Given the description of an element on the screen output the (x, y) to click on. 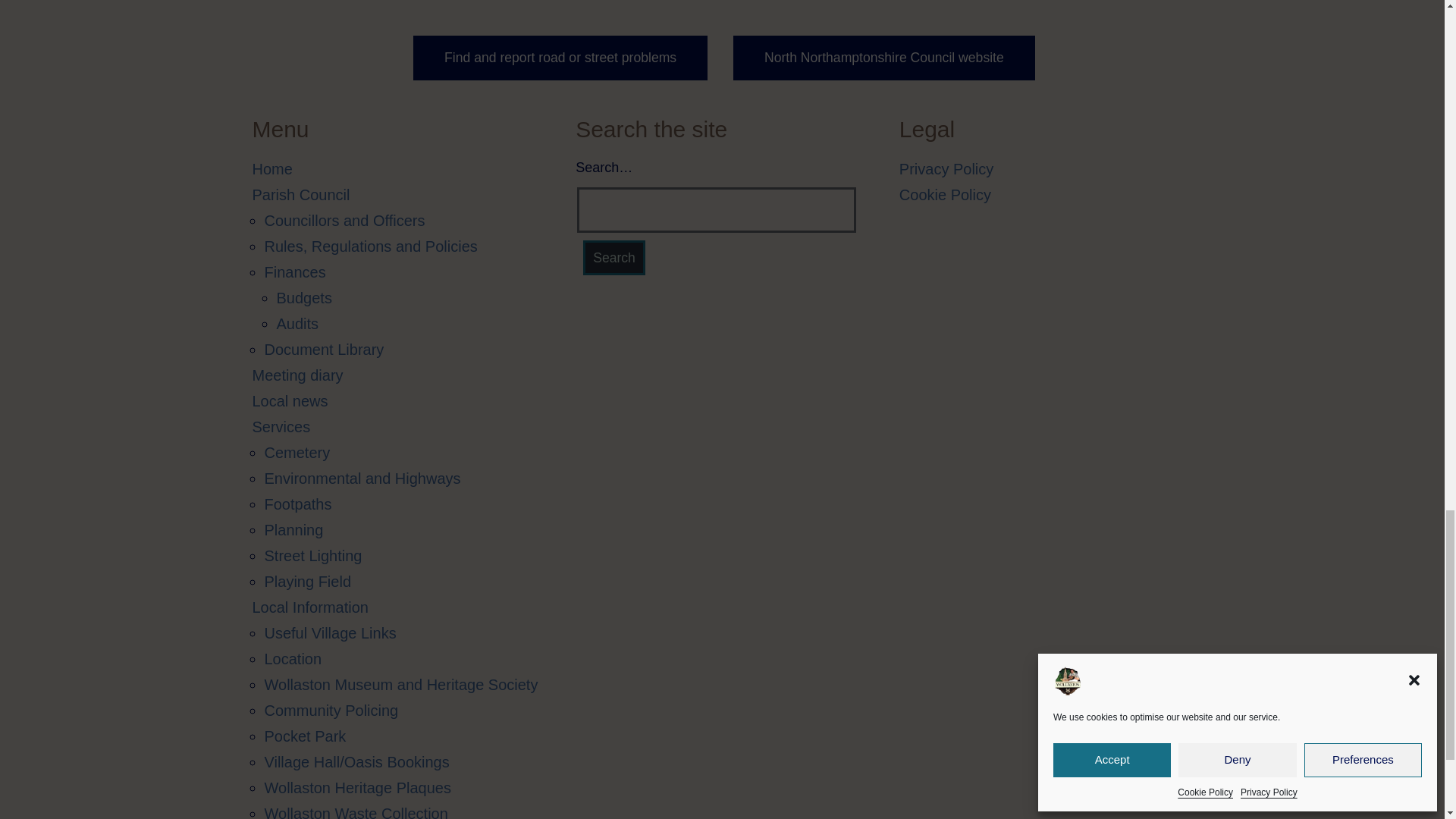
Visit the Northamptonshire County Council website (884, 58)
Search (614, 257)
Search (614, 257)
